Given the description of an element on the screen output the (x, y) to click on. 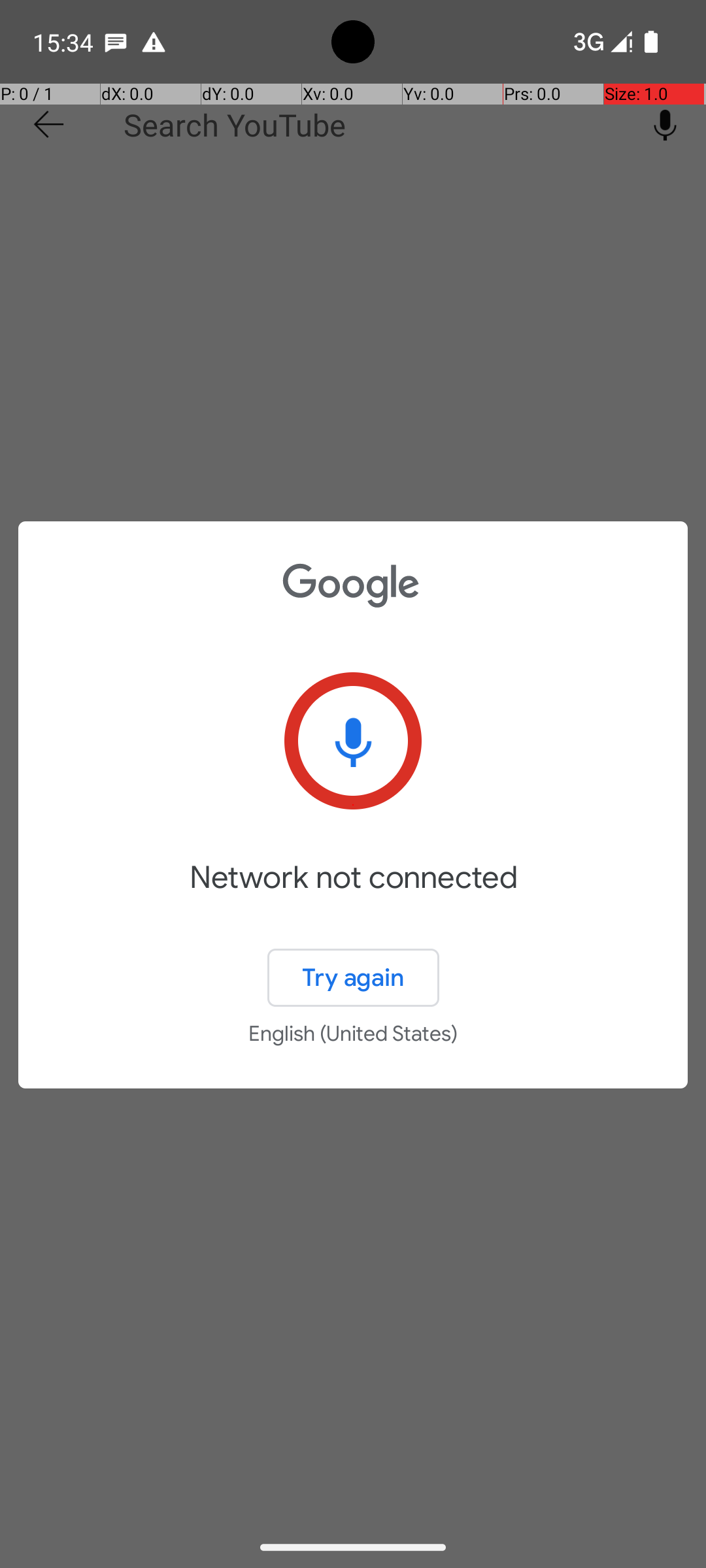
Network not connected Element type: android.widget.TextView (352, 895)
Try again Element type: android.widget.Button (353, 977)
